Given the description of an element on the screen output the (x, y) to click on. 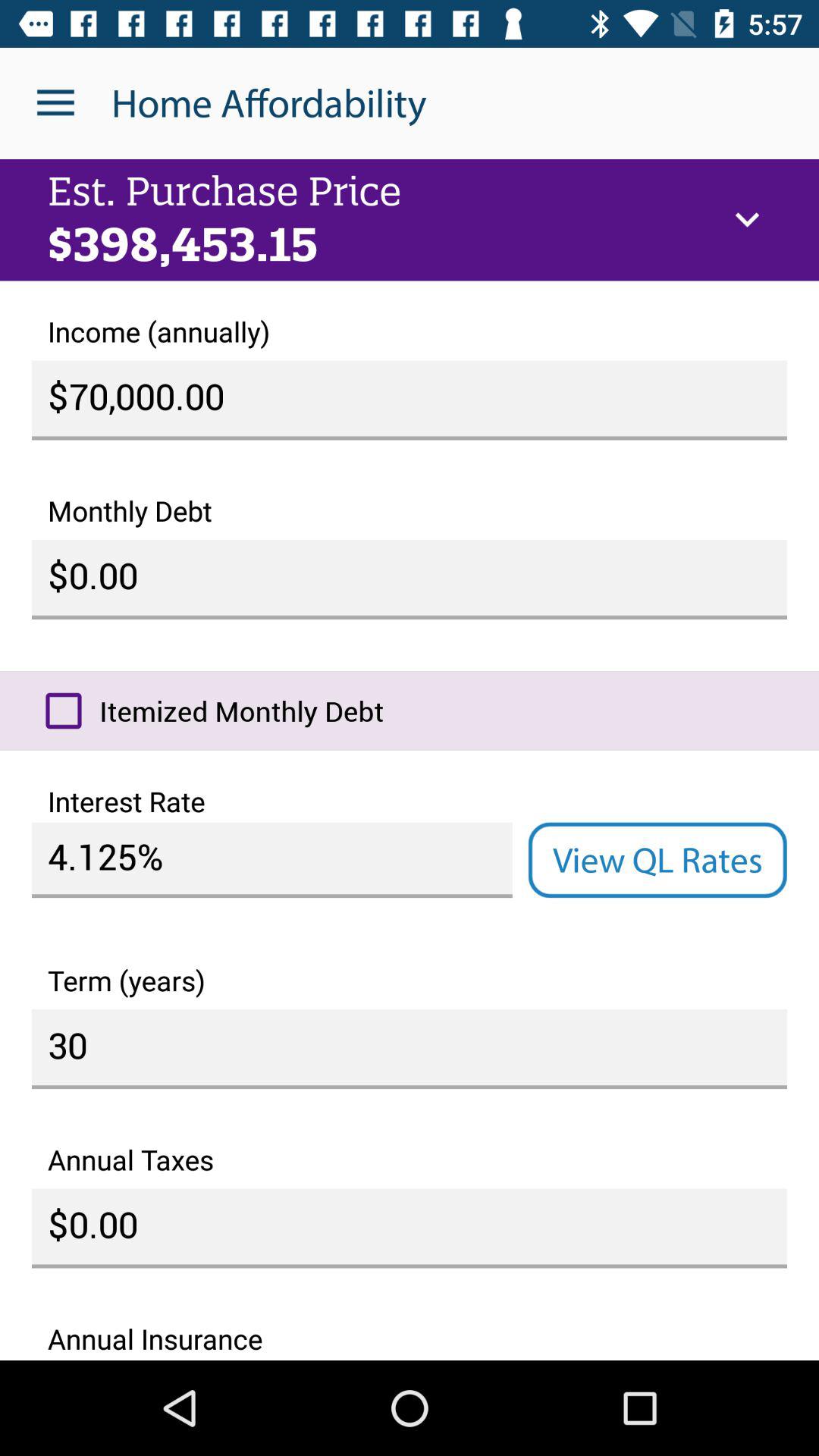
turn on the icon below interest rate item (657, 860)
